Given the description of an element on the screen output the (x, y) to click on. 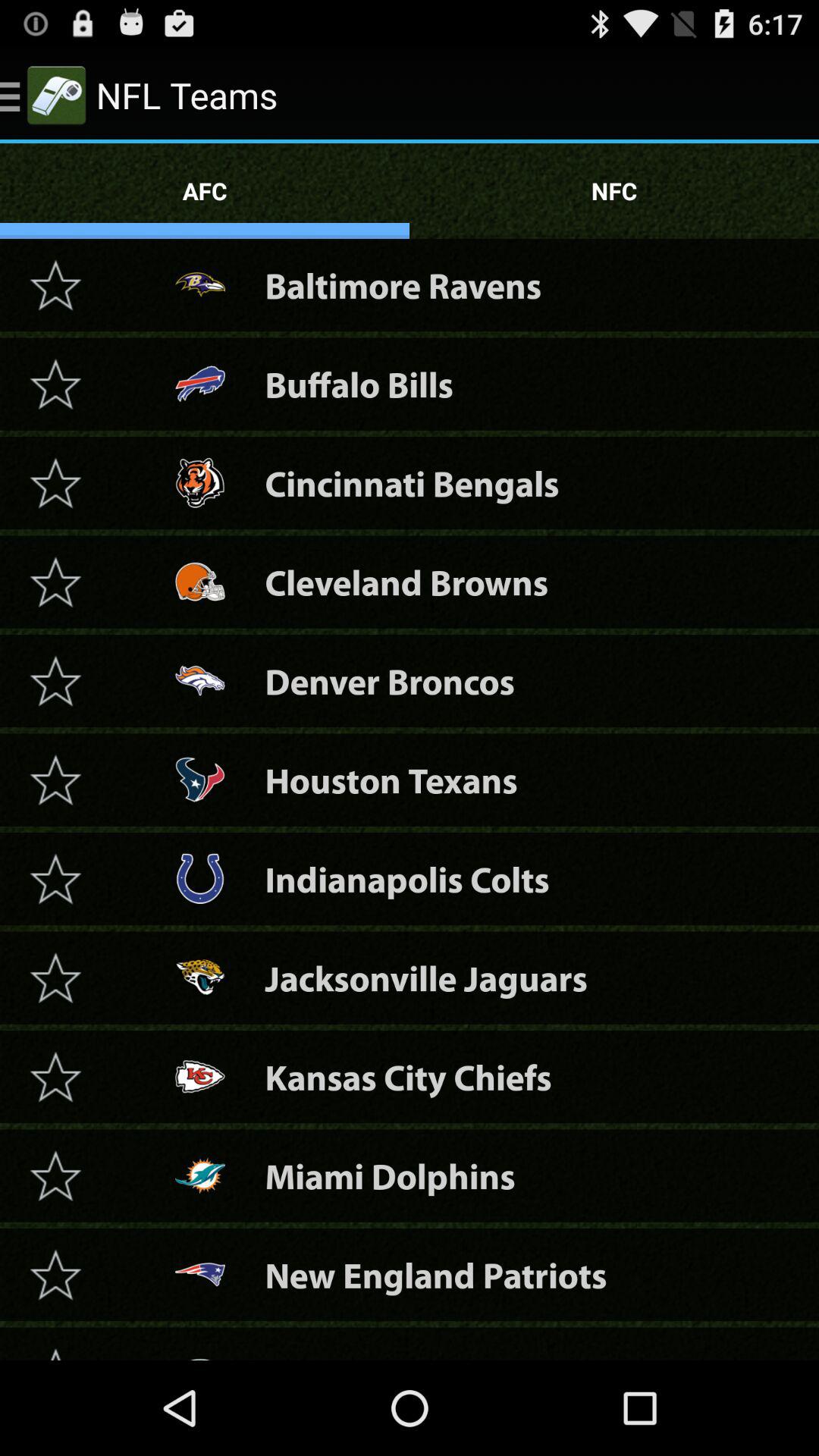
select team (55, 581)
